Given the description of an element on the screen output the (x, y) to click on. 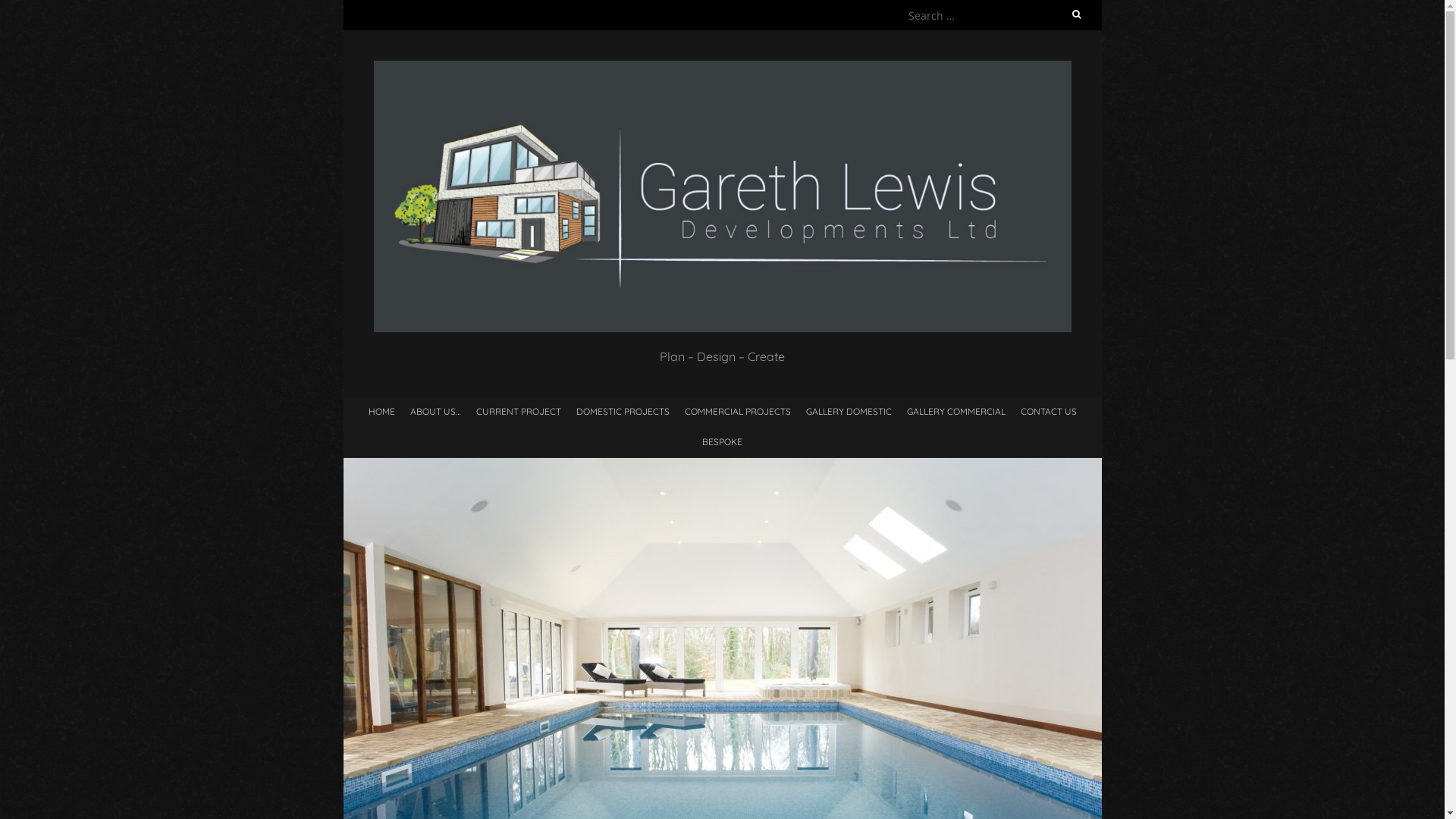
HOME Element type: text (381, 410)
GALLERY COMMERCIAL Element type: text (956, 410)
CONTACT US Element type: text (1048, 410)
CURRENT PROJECT Element type: text (518, 410)
GALLERY DOMESTIC Element type: text (847, 410)
COMMERCIAL PROJECTS Element type: text (736, 410)
DOMESTIC PROJECTS Element type: text (622, 410)
Gareth Lewis Developments LTD Element type: hover (721, 67)
Search Element type: text (28, 9)
BESPOKE Element type: text (721, 440)
